Given the description of an element on the screen output the (x, y) to click on. 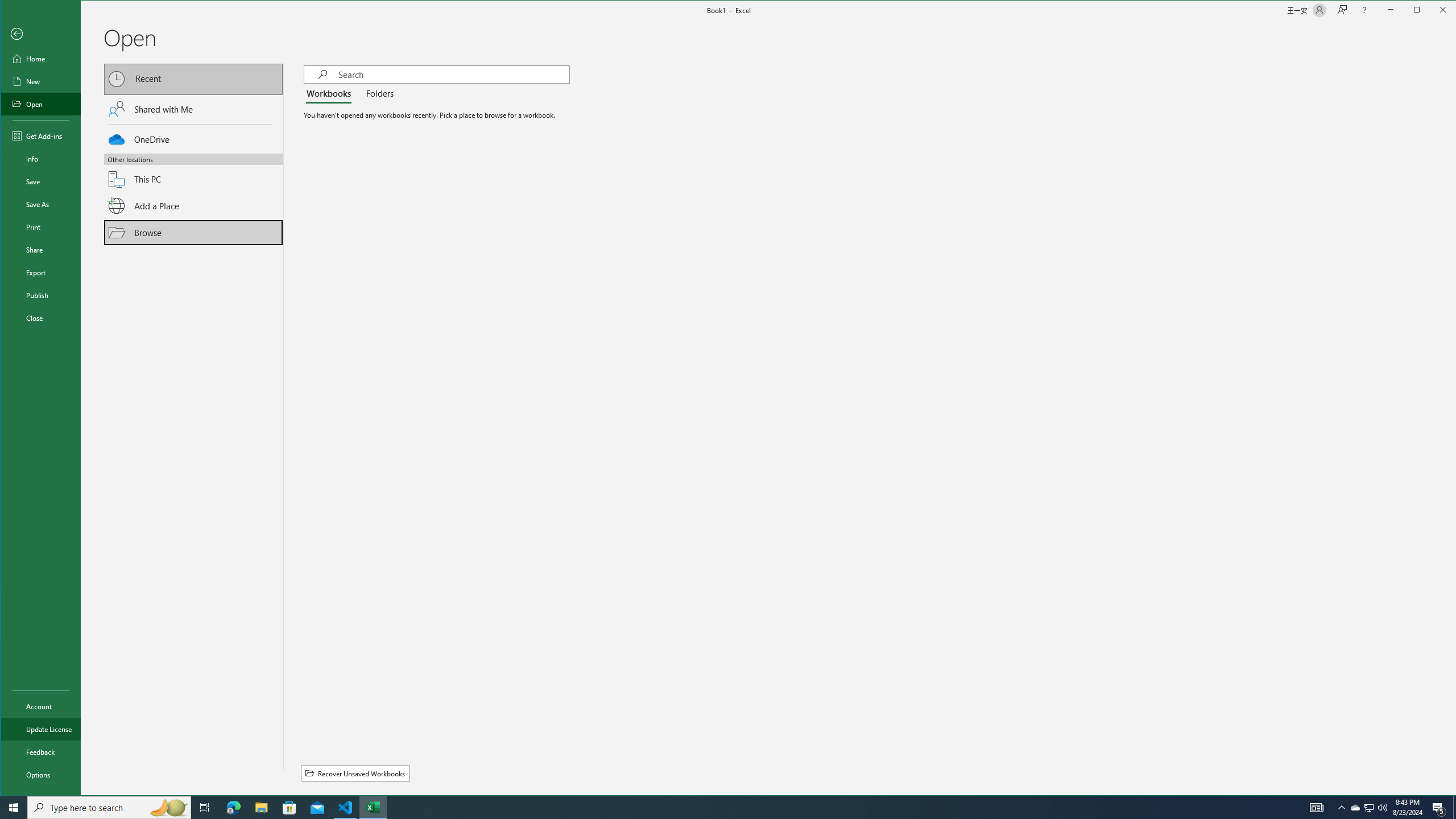
Q2790: 100% (1382, 807)
Add a Place (193, 205)
Maximize (1432, 11)
Show desktop (1454, 807)
Back (40, 34)
Task View (204, 807)
Account (40, 706)
Action Center, 5 new notifications (1439, 807)
Microsoft Store (289, 807)
Microsoft Edge (233, 807)
